Given the description of an element on the screen output the (x, y) to click on. 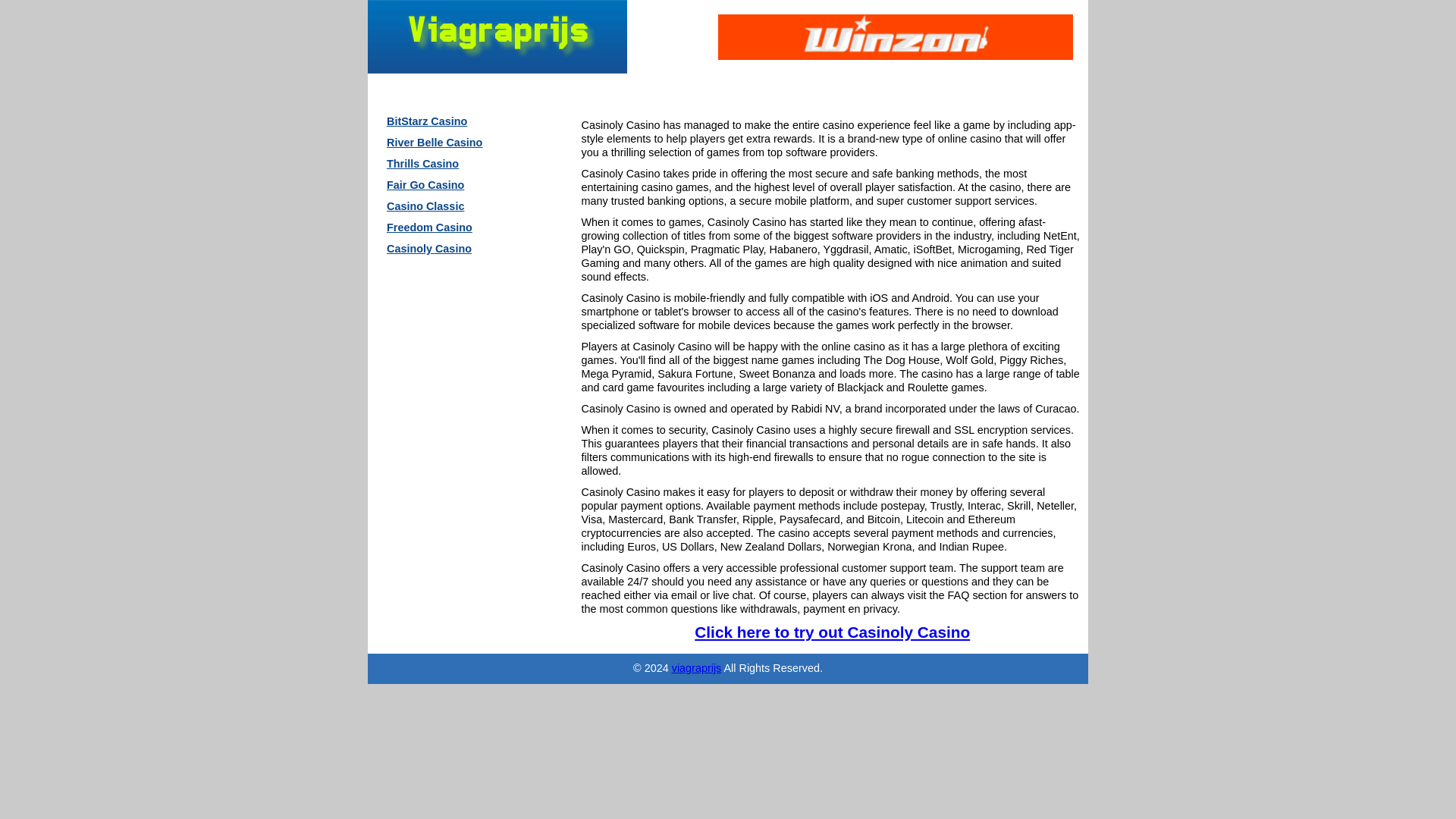
Fair Go Casino (451, 184)
Casinoly Casino (451, 248)
Freedom Casino (451, 227)
viagraprijs (696, 667)
BitStarz Casino (451, 120)
River Belle Casino (451, 142)
Casino Classic (451, 206)
Thrills Casino (451, 163)
Click here to try out Casinoly Casino (831, 631)
